Given the description of an element on the screen output the (x, y) to click on. 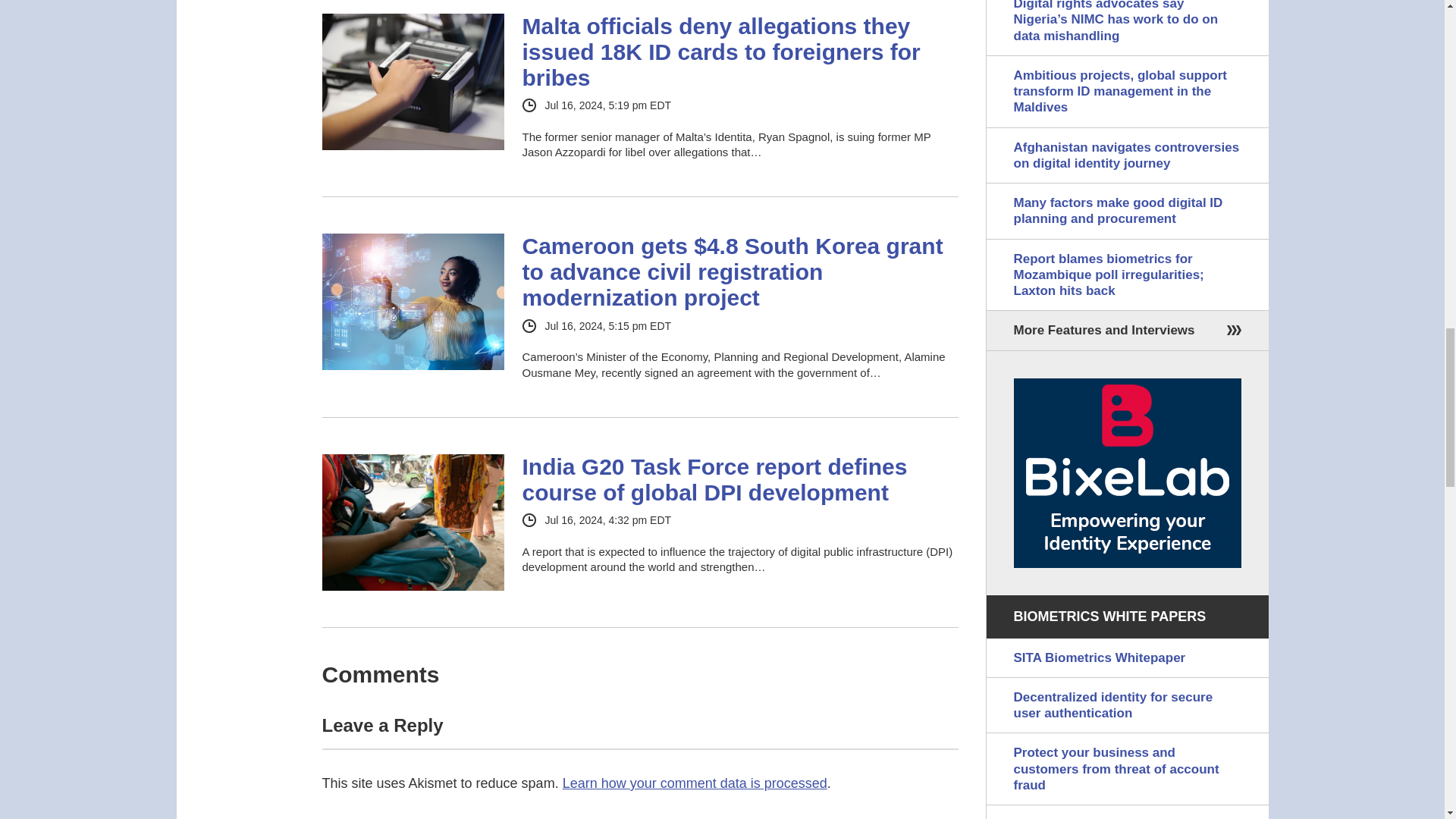
3rd party ad content (1126, 472)
